Given the description of an element on the screen output the (x, y) to click on. 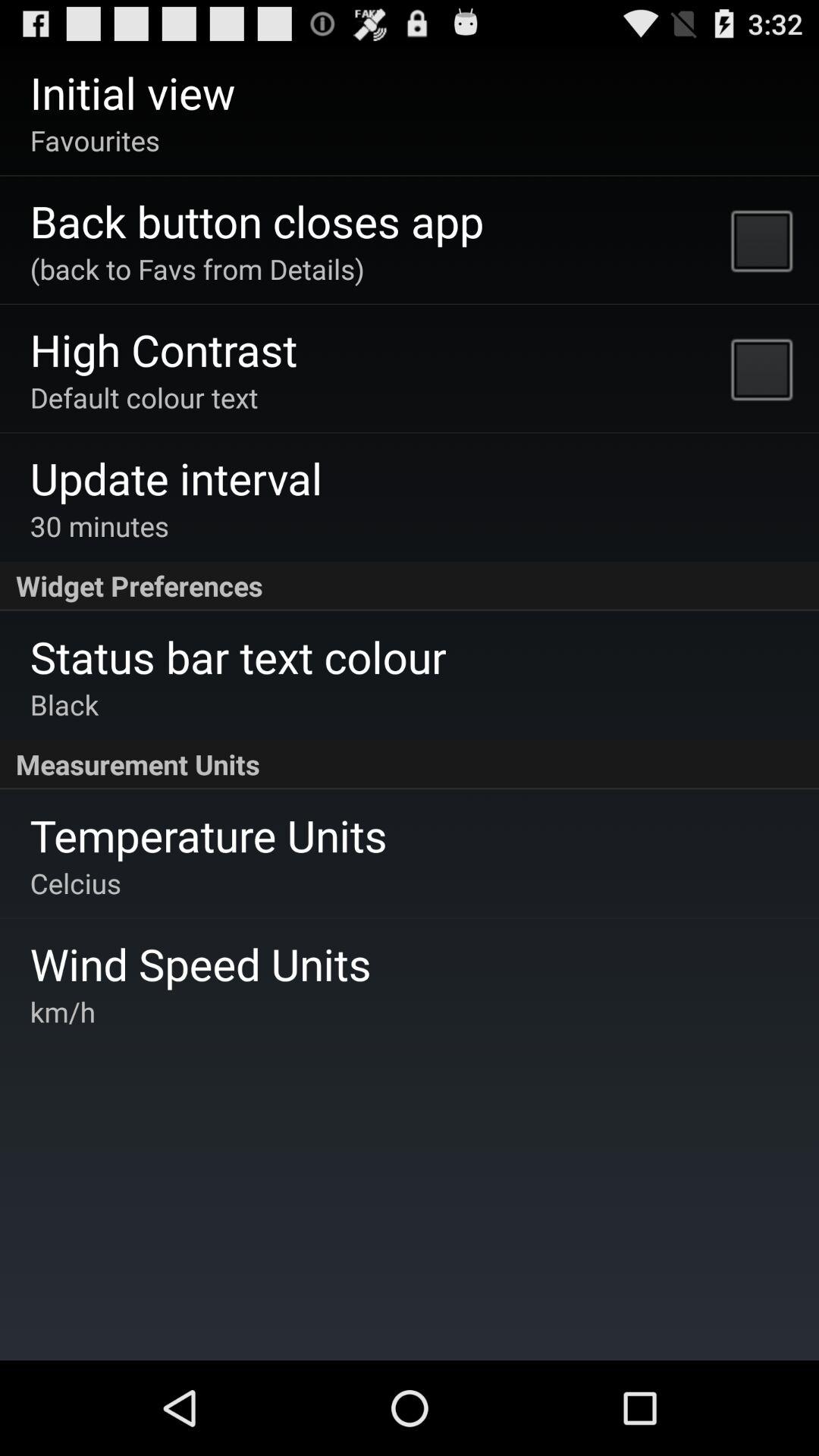
press item above the wind speed units (75, 883)
